Given the description of an element on the screen output the (x, y) to click on. 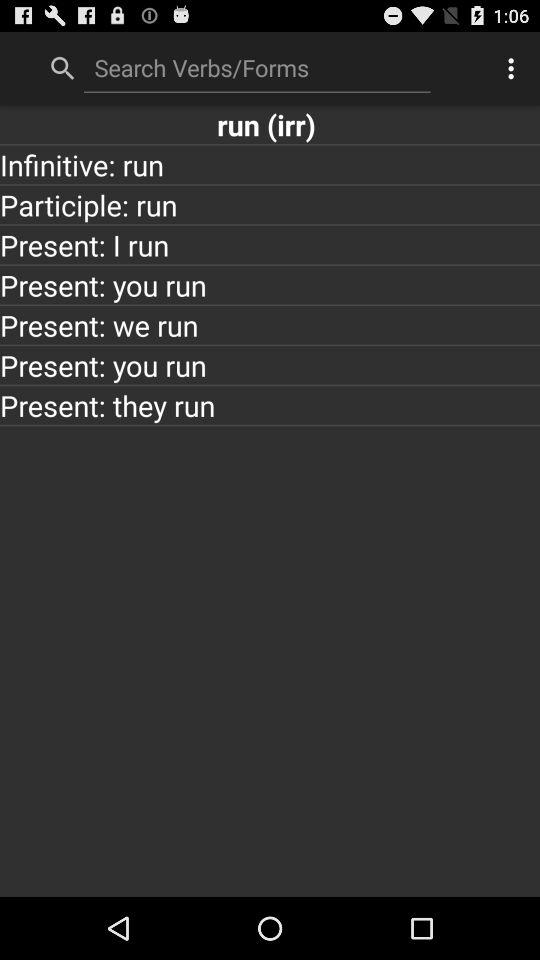
scroll until the infinitive: run icon (270, 164)
